Given the description of an element on the screen output the (x, y) to click on. 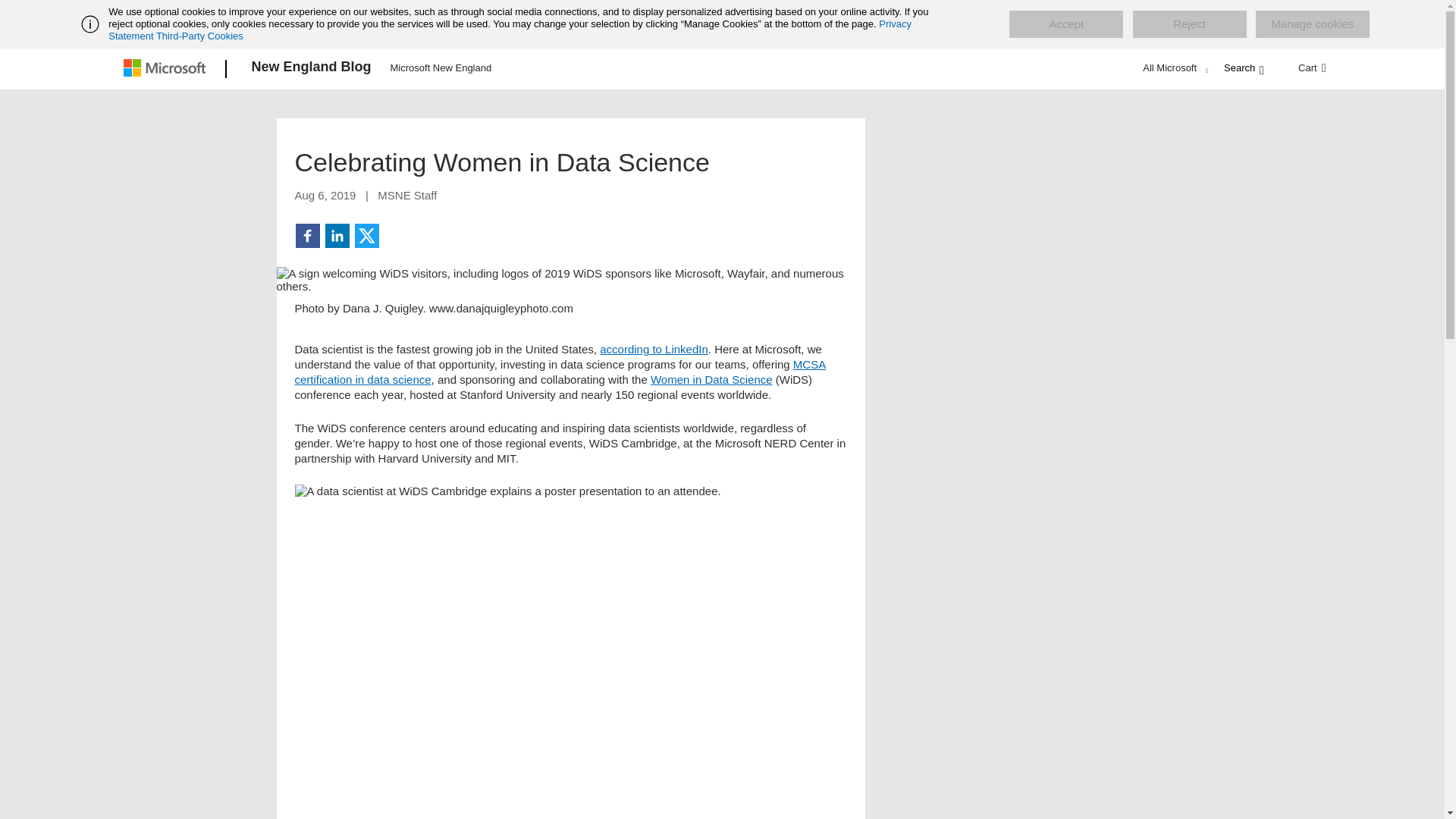
August 6, 2019 (324, 195)
New England Blog (311, 69)
Accept (1065, 23)
Privacy Statement (509, 29)
Microsoft New England (441, 67)
Third-Party Cookies (199, 35)
Microsoft (167, 69)
Manage cookies (1312, 23)
All Microsoft (1173, 67)
Reject (1189, 23)
